Given the description of an element on the screen output the (x, y) to click on. 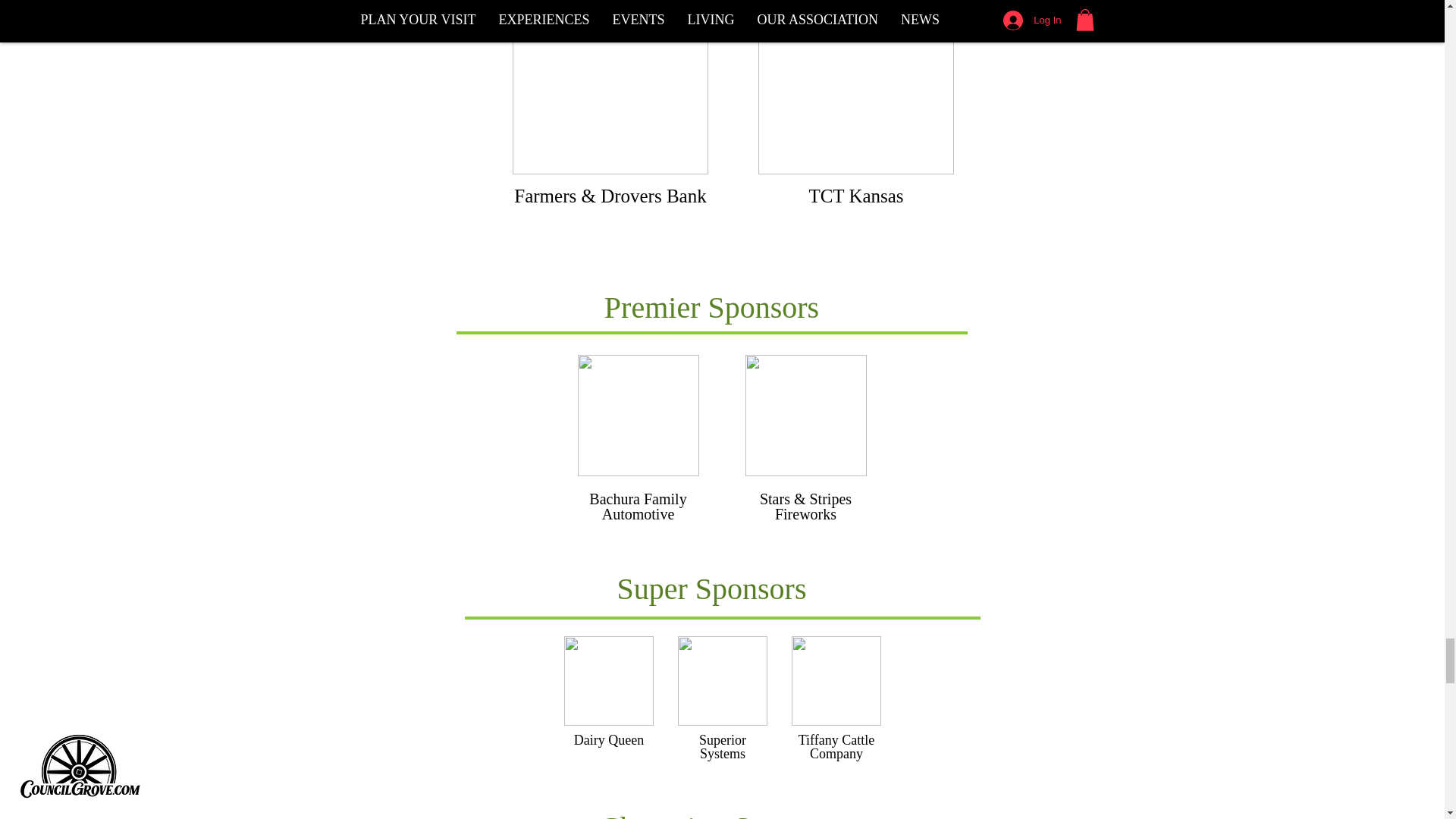
Logo-FarmersDrovers-Square-Reverse.jpg (609, 87)
Dairy-Queen-Emblem.jpg (608, 680)
Logo-TiffanyCattleCo.png (836, 680)
Logo-BachuraAuto.jpg (638, 414)
Logo-SuperiorSystems.jpg (722, 680)
Logo-StarsStripesFireworks.jpg (805, 414)
Logo-TCTBroadband.jpg (855, 87)
